Given the description of an element on the screen output the (x, y) to click on. 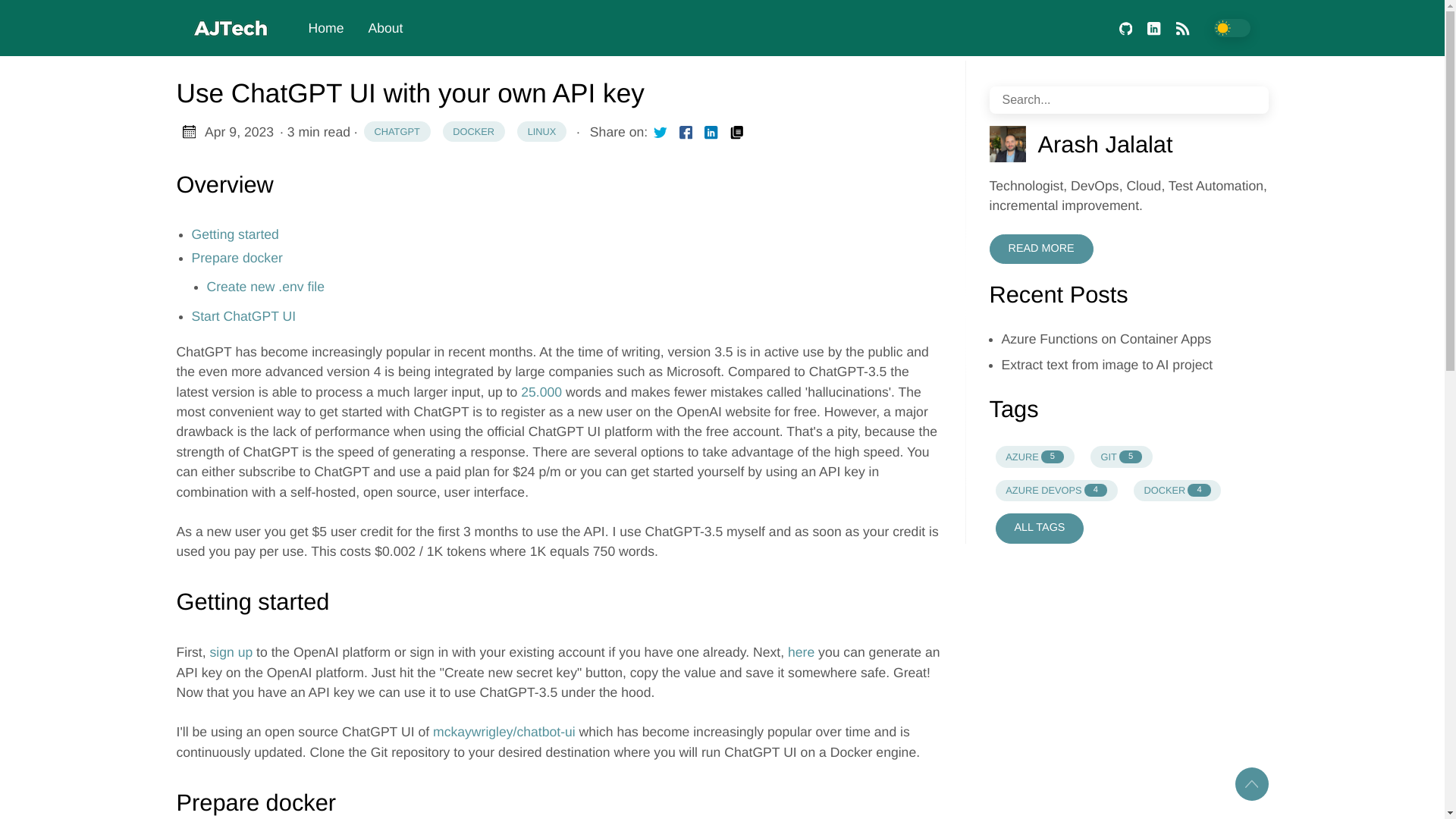
LINUX (541, 131)
here (1055, 490)
search (800, 652)
Share on Twitter (1259, 101)
linkedin (659, 131)
Home (1153, 28)
azure (325, 28)
linux (1034, 455)
About (541, 131)
facebook (384, 28)
Extract text from image to AI project (686, 132)
DOCKER (1106, 364)
Copy Link (473, 131)
rss (736, 131)
